Given the description of an element on the screen output the (x, y) to click on. 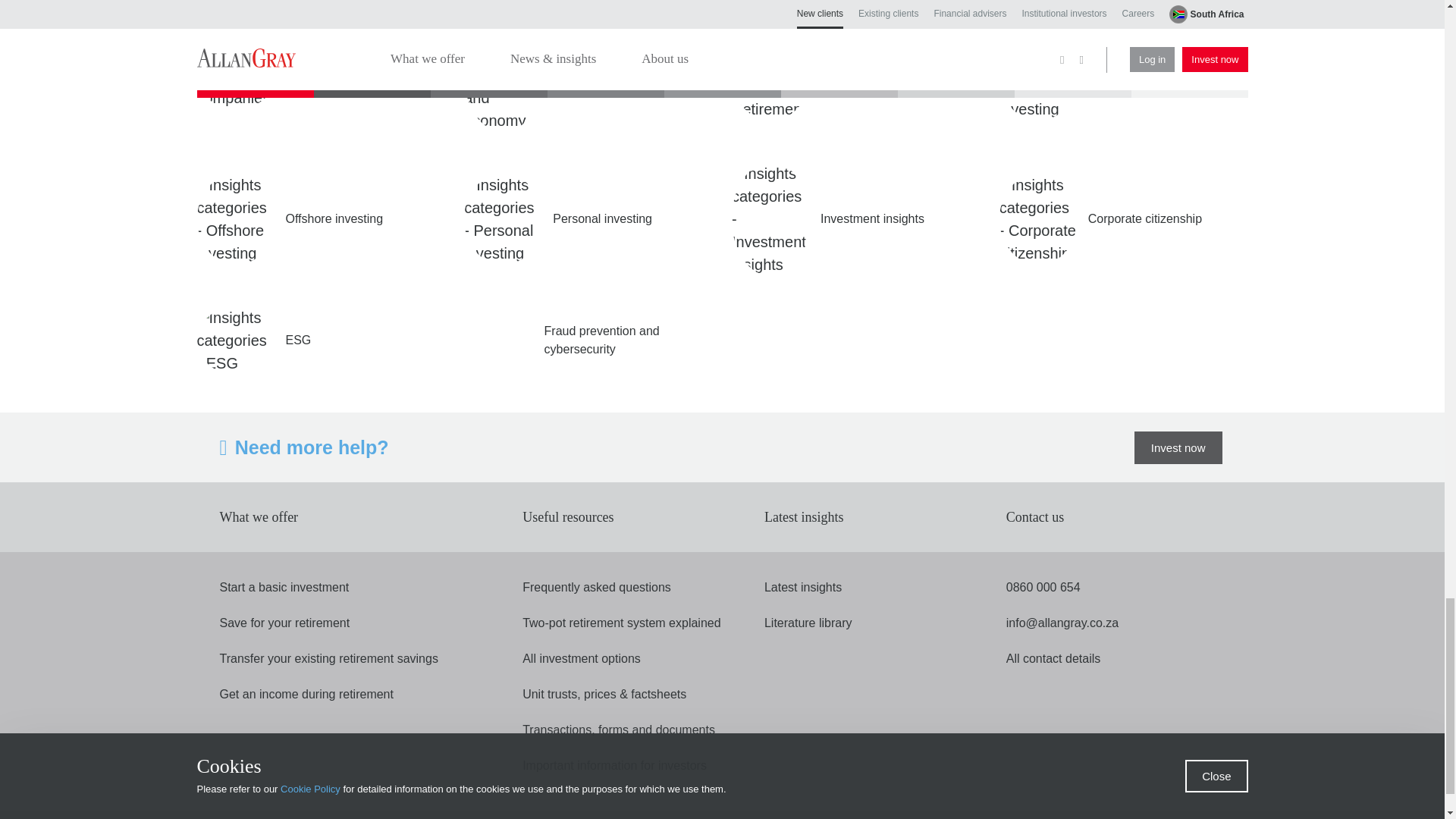
Two-pot retirement system explained (621, 623)
